Given the description of an element on the screen output the (x, y) to click on. 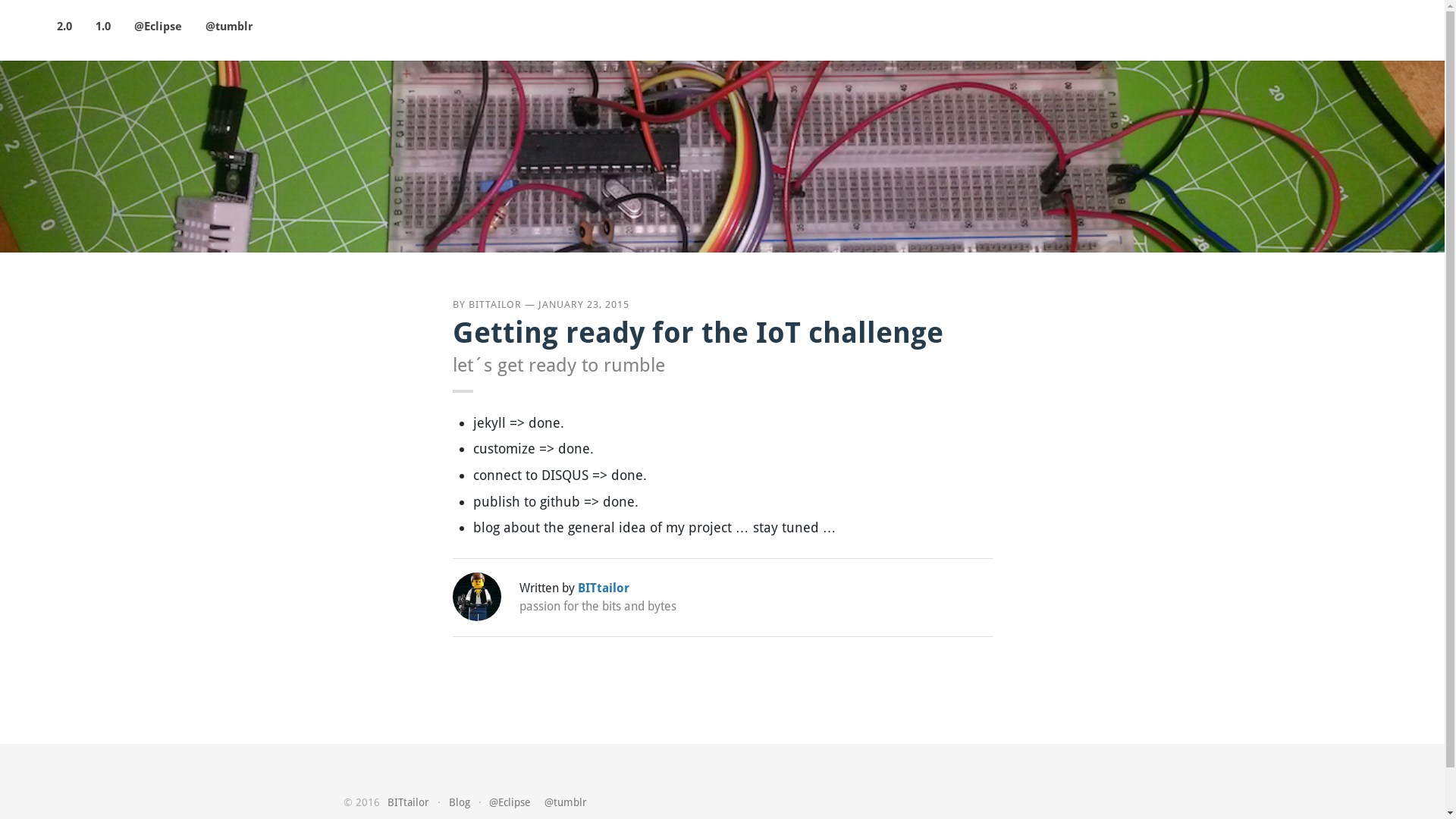
BITTAILOR Element type: text (494, 304)
@tumblr Element type: text (565, 802)
@Eclipse Element type: text (509, 802)
@Eclipse Element type: text (157, 26)
BITtailor Element type: text (408, 802)
@tumblr Element type: text (228, 26)
BITtailor Element type: text (603, 587)
Blog Element type: text (459, 802)
1.0 Element type: text (102, 26)
2.0 Element type: text (63, 26)
